Given the description of an element on the screen output the (x, y) to click on. 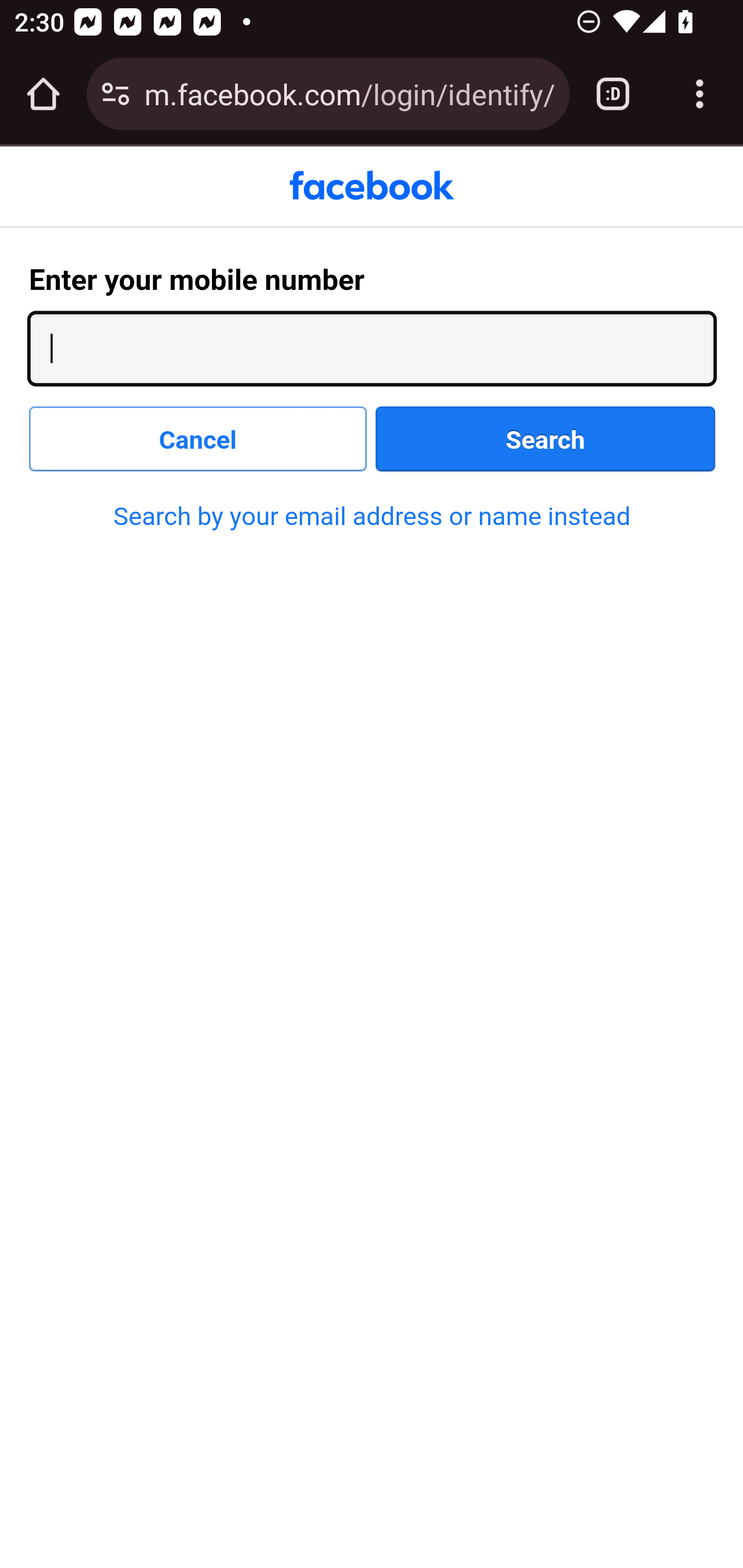
Open the home page (43, 93)
Connection is secure (115, 93)
Switch or close tabs (612, 93)
Customize and control Google Chrome (699, 93)
Facebook (371, 185)
Cancel (198, 438)
Search (545, 438)
Search by your email address or name instead (372, 515)
